Given the description of an element on the screen output the (x, y) to click on. 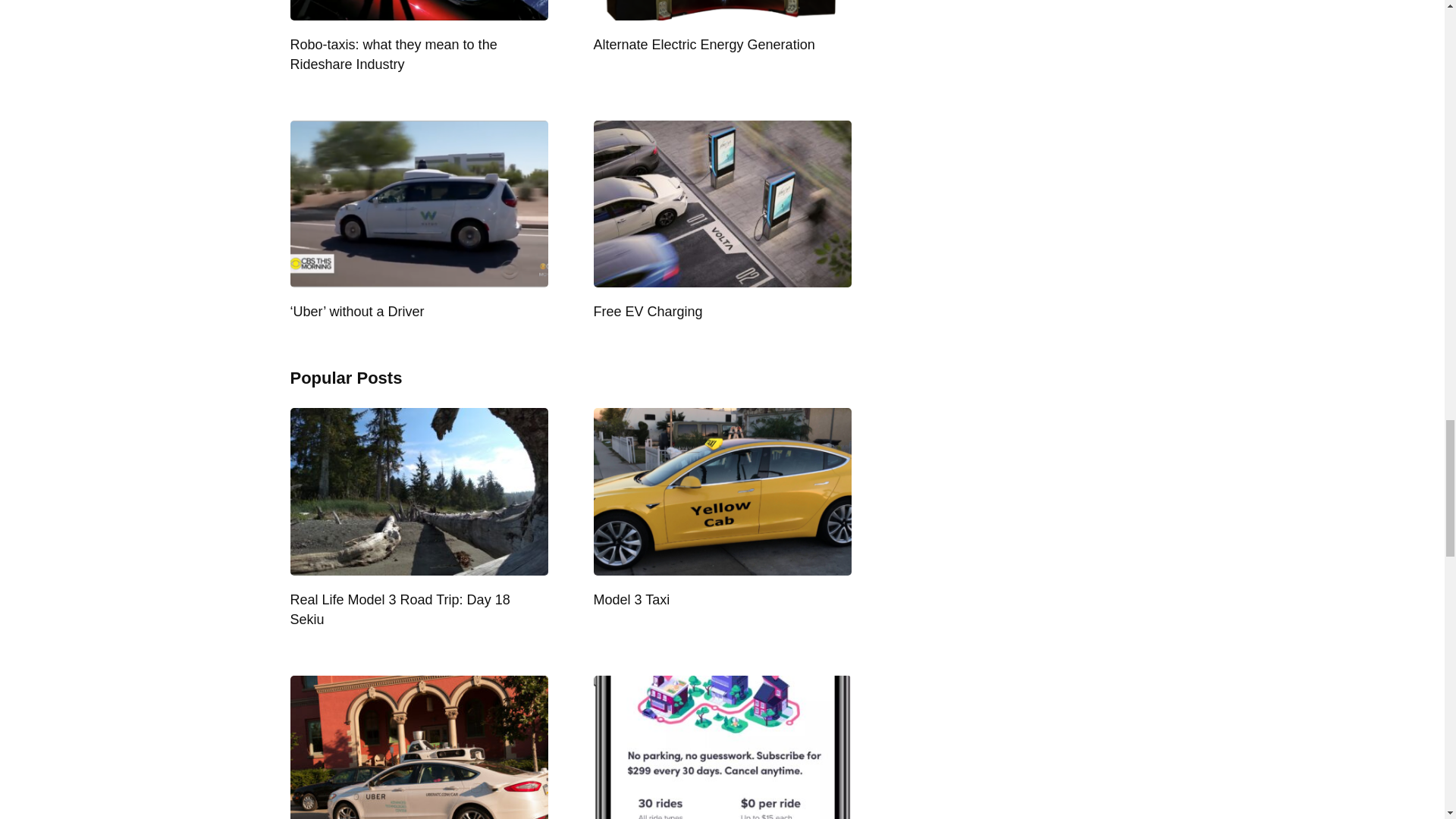
Robo-taxis: what they mean to the Rideshare Industry (392, 54)
